Given the description of an element on the screen output the (x, y) to click on. 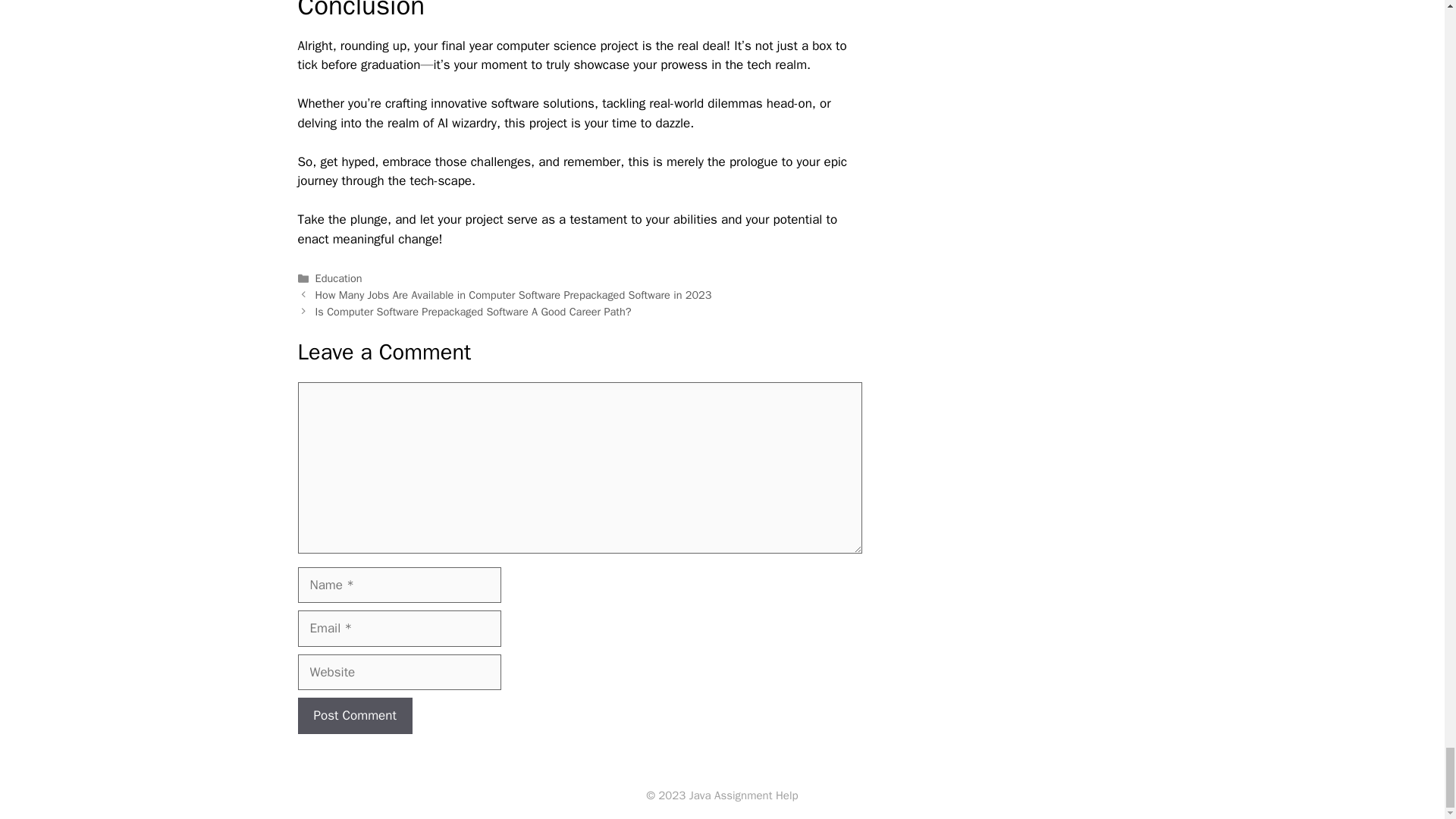
Post Comment (354, 715)
